Given the description of an element on the screen output the (x, y) to click on. 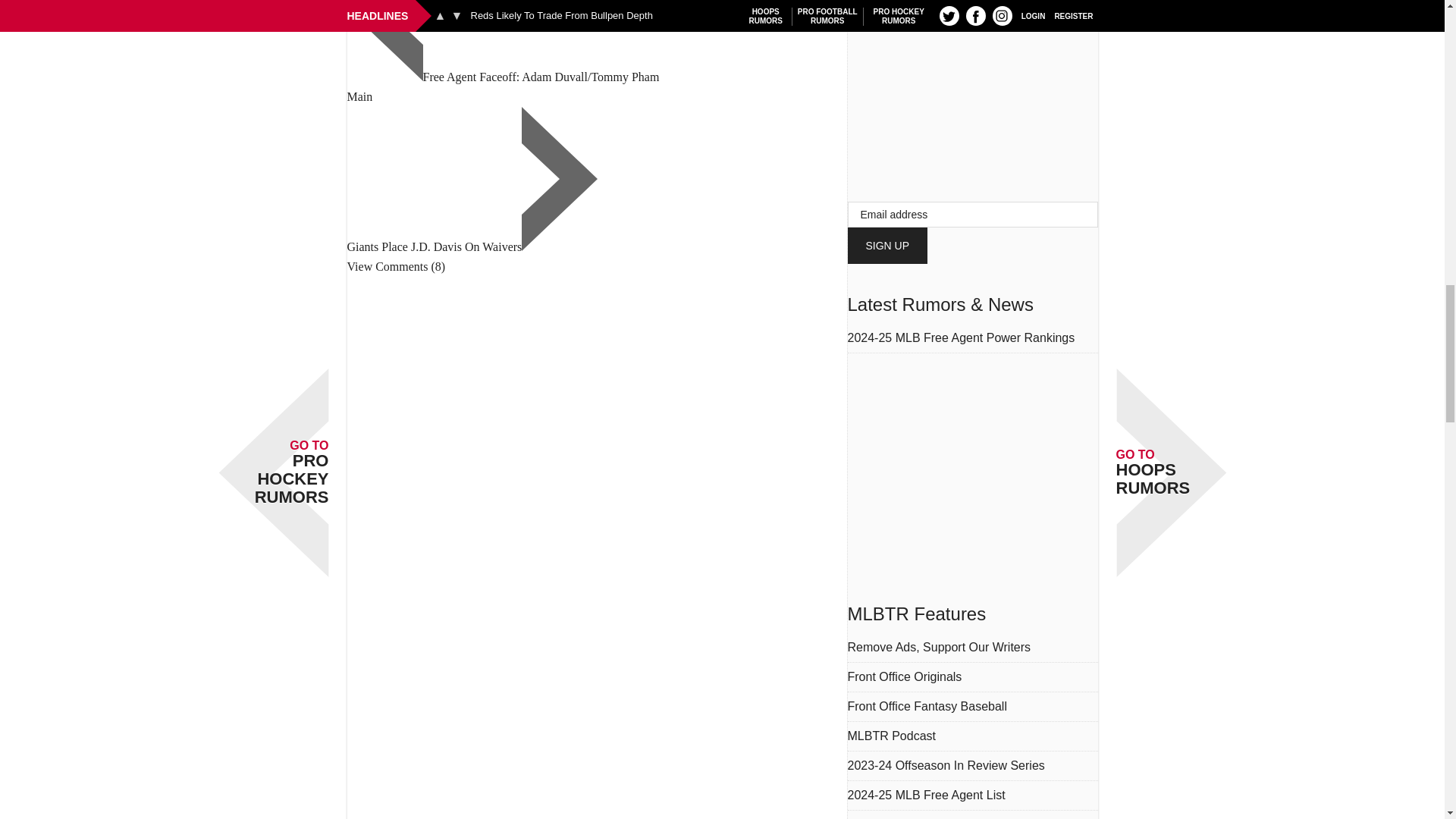
Sign Up (887, 245)
